Given the description of an element on the screen output the (x, y) to click on. 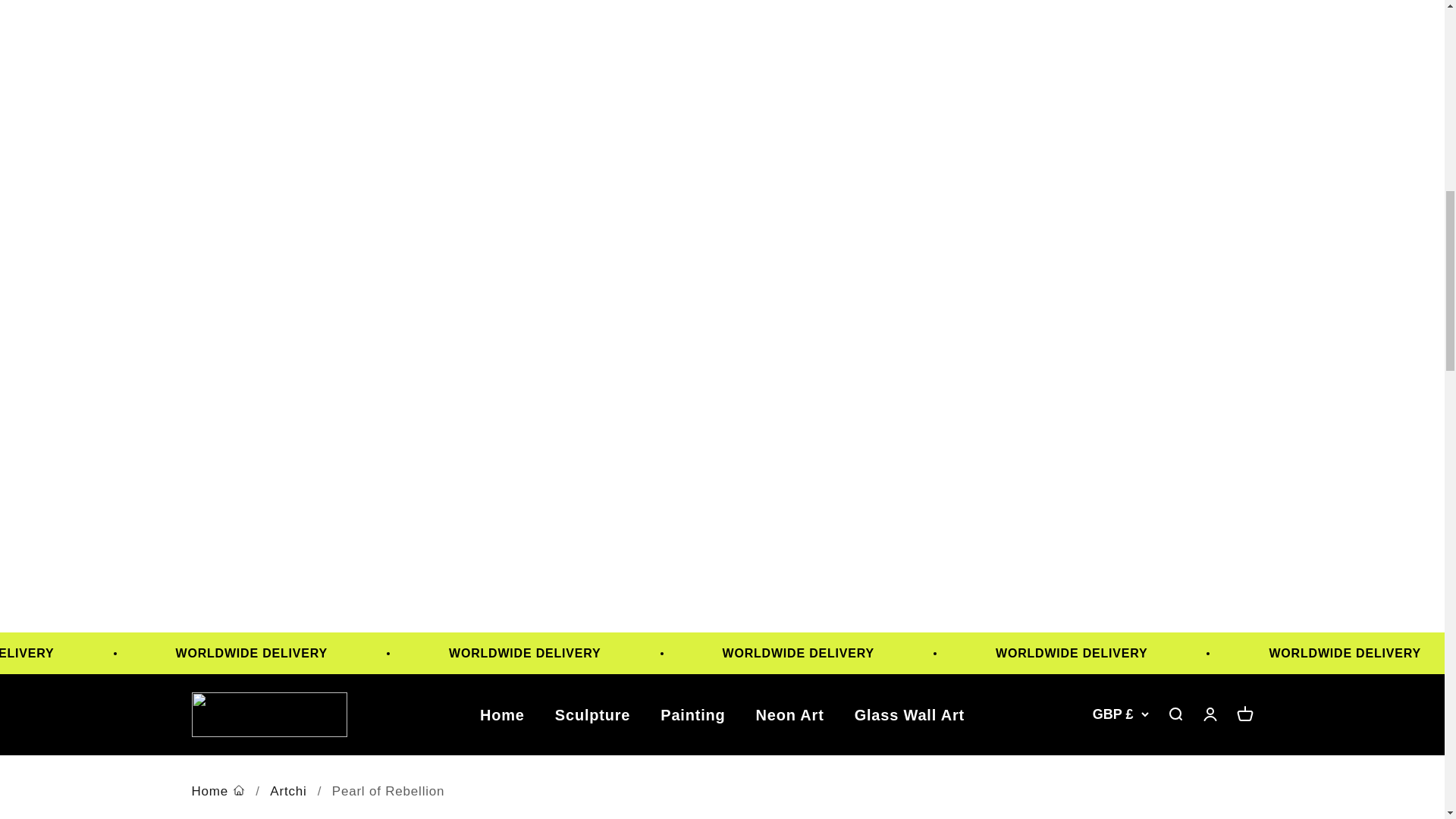
Painting (693, 714)
Home (502, 714)
Sculpture (592, 714)
Neon Art (789, 714)
Home (217, 791)
Glass Wall Art (908, 714)
Artchi (268, 714)
